Given the description of an element on the screen output the (x, y) to click on. 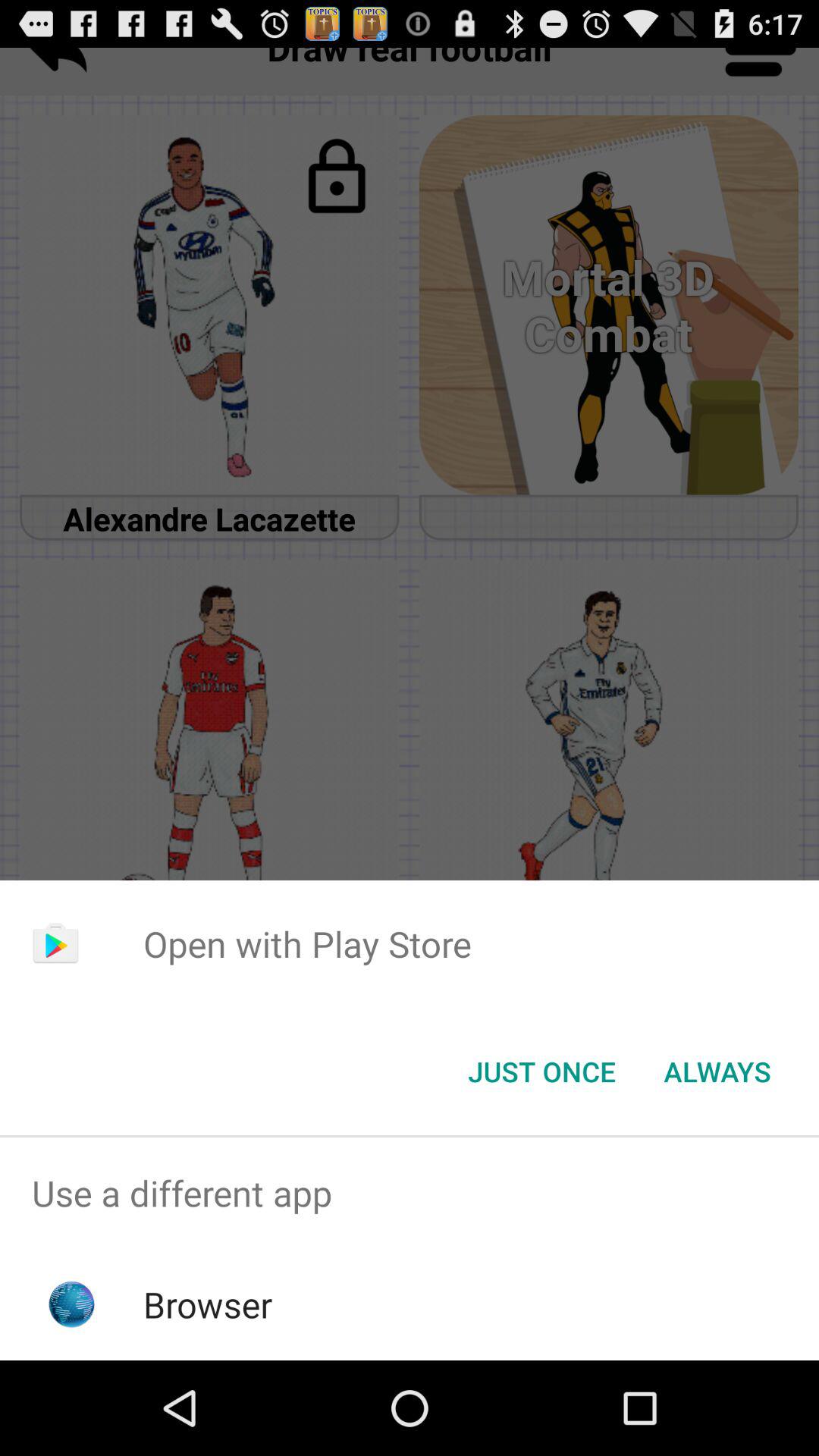
select the icon below the open with play (541, 1071)
